Given the description of an element on the screen output the (x, y) to click on. 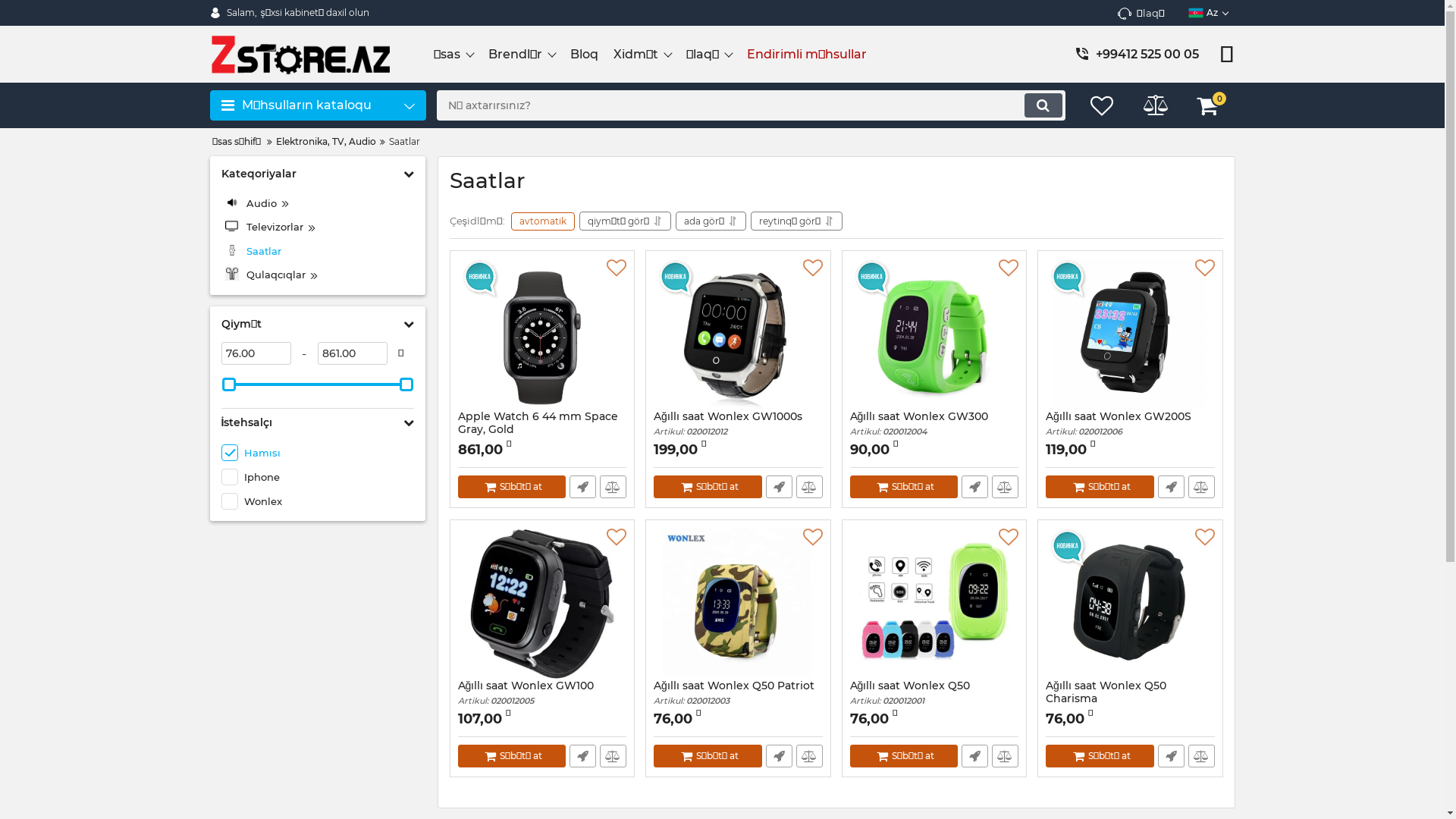
Saatlar Element type: hover (231, 250)
Televizorlar Element type: hover (231, 225)
Fast Order Element type: text (582, 755)
Bloq Element type: text (583, 53)
Fast Order Element type: text (974, 486)
Audio Element type: text (317, 203)
Televizorlar Element type: text (317, 227)
new.png Element type: hover (1068, 547)
Apple Watch 6 44 mm Space Gray, Gold  Element type: hover (542, 334)
new.png Element type: hover (676, 278)
Audio Element type: hover (231, 202)
Fast Order Element type: text (778, 755)
new.png Element type: hover (479, 278)
Fast Order Element type: text (1170, 755)
Fast Order Element type: text (974, 755)
Wonlex Element type: text (317, 500)
Fast Order Element type: text (778, 486)
avtomatik Element type: text (542, 221)
Fast Order Element type: text (582, 486)
new.png Element type: hover (1068, 278)
Apple Watch 6 44 mm Space Gray, Gold Element type: text (542, 434)
Fast Order Element type: text (1170, 486)
+99412 525 00 05 Element type: text (1149, 54)
Iphone Element type: text (317, 476)
Elektronika, TV, Audio Element type: text (326, 141)
new.png Element type: hover (872, 278)
